Given the description of an element on the screen output the (x, y) to click on. 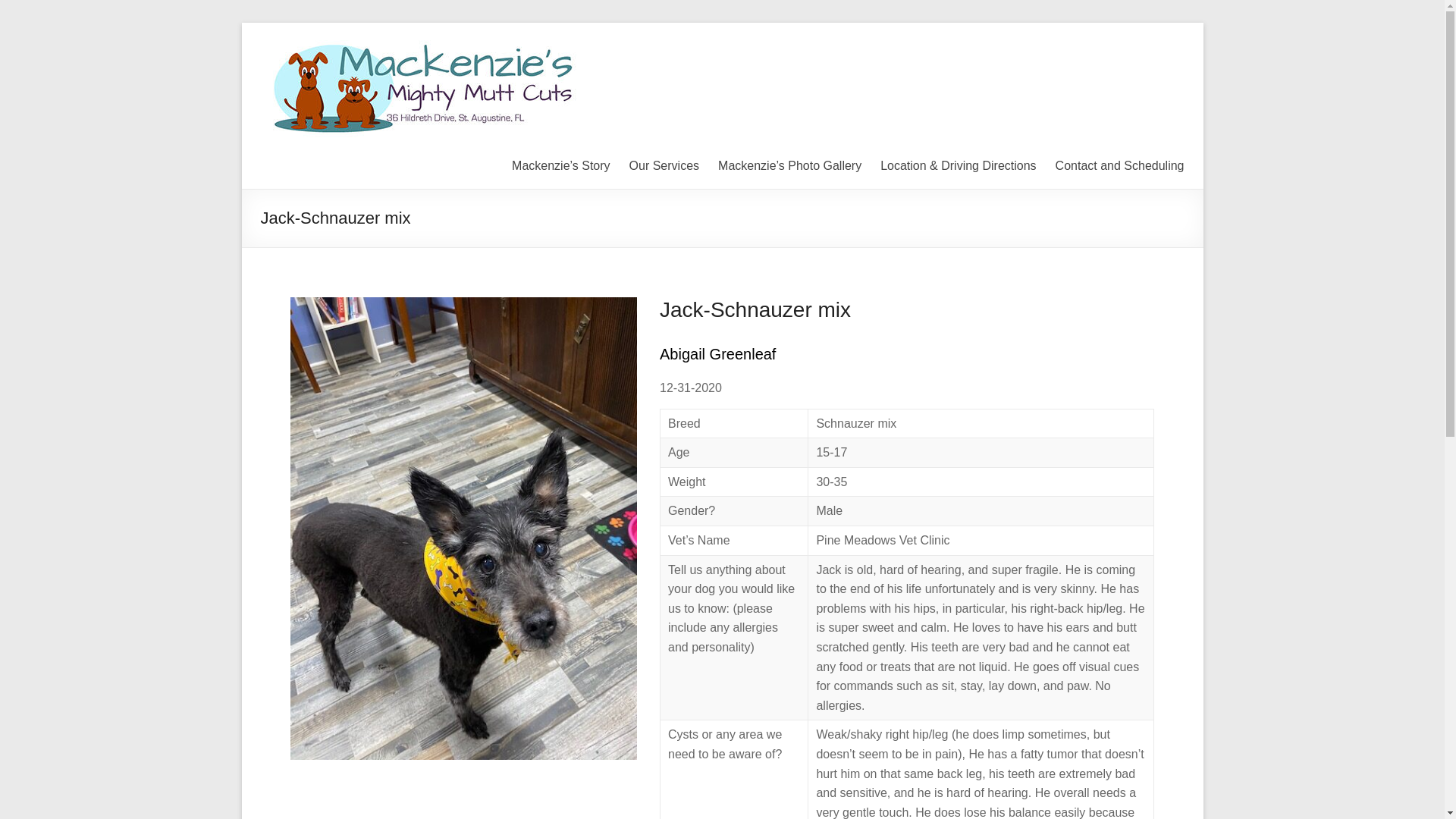
MacKenzies Mighty Mutt Cuts Dog Grooming (890, 54)
MacKenzies Mighty Mutt Cuts Dog Grooming (890, 54)
Contact and Scheduling (1120, 165)
Our Services (663, 165)
